Given the description of an element on the screen output the (x, y) to click on. 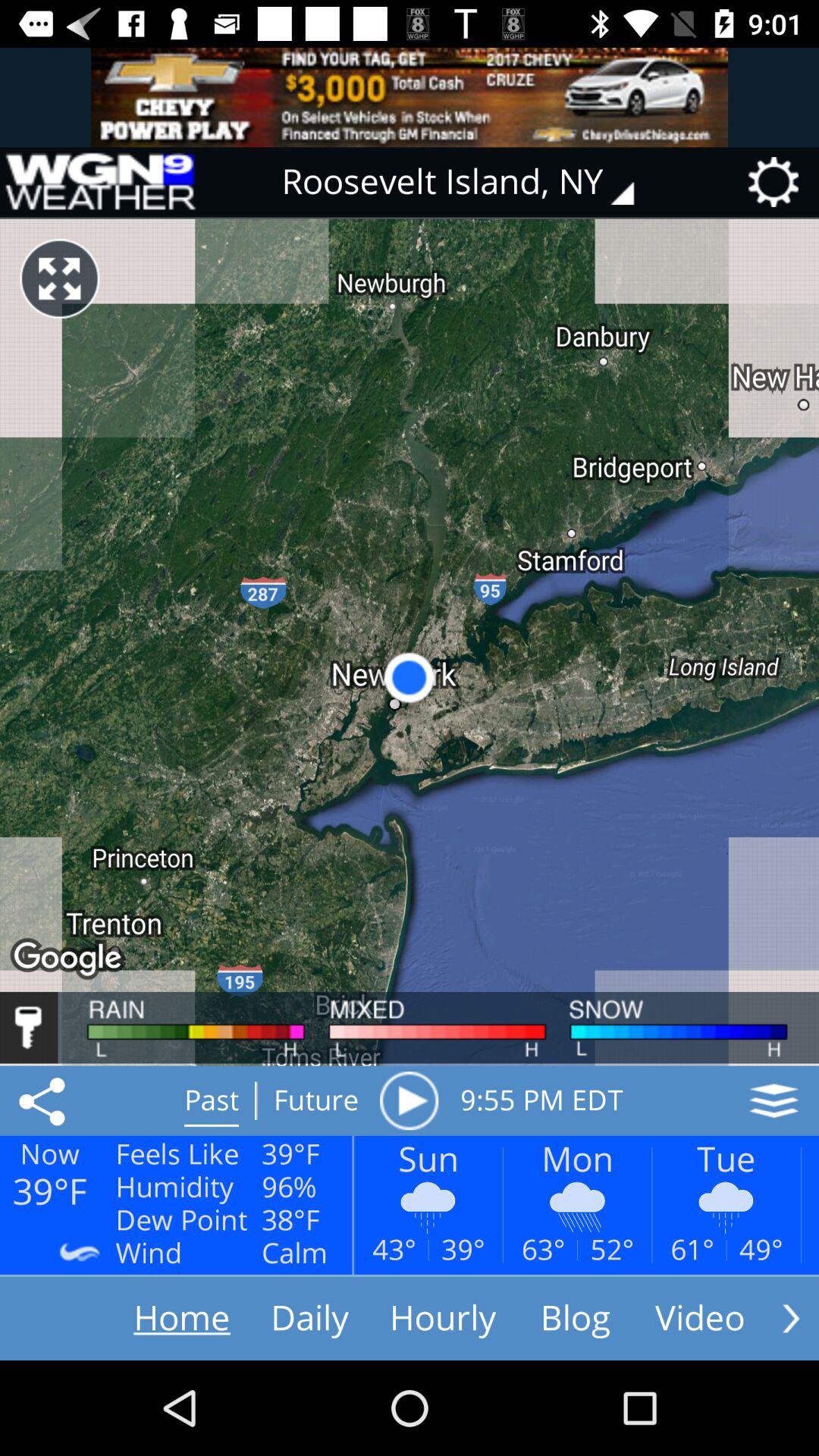
more options (791, 1318)
